Given the description of an element on the screen output the (x, y) to click on. 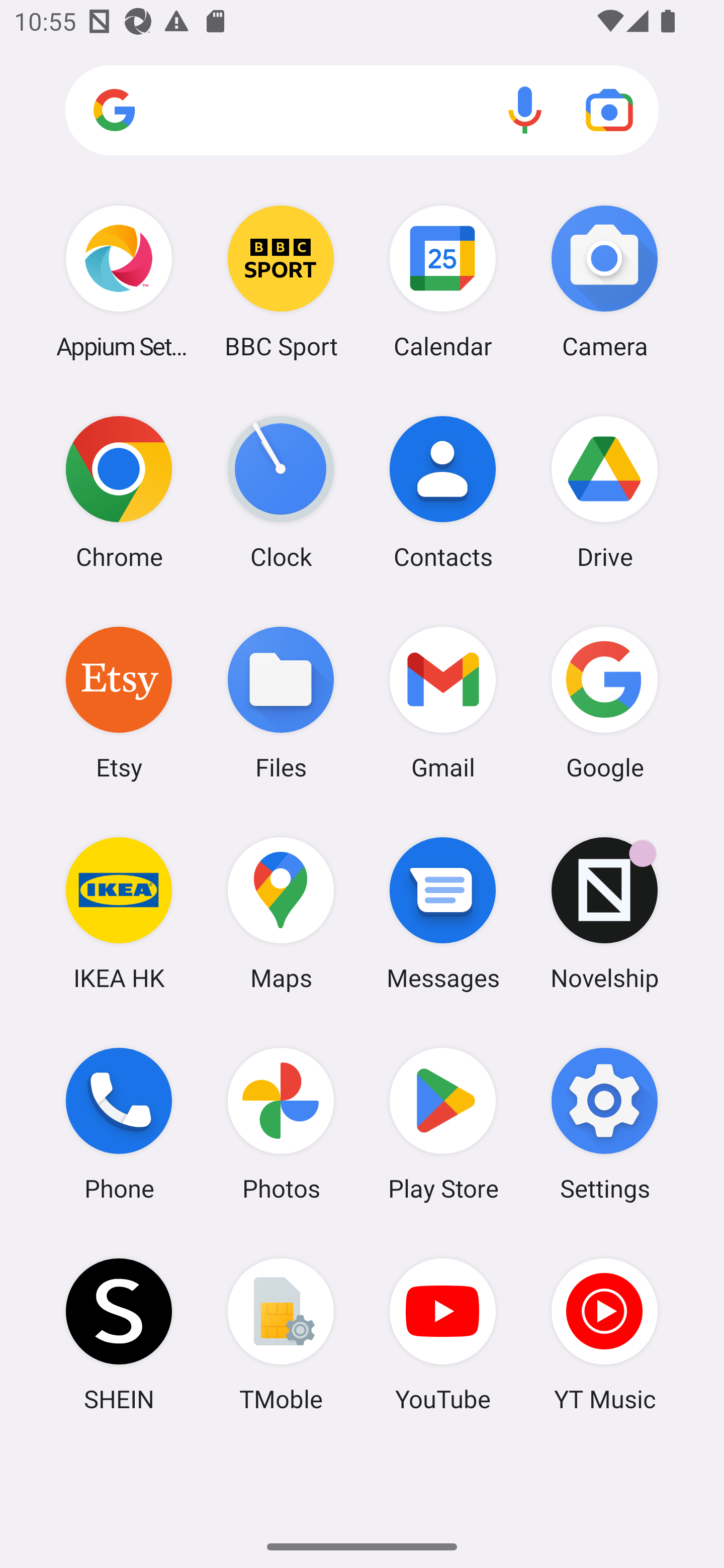
Search apps, web and more (361, 110)
Voice search (524, 109)
Google Lens (608, 109)
Appium Settings (118, 281)
BBC Sport (280, 281)
Calendar (443, 281)
Camera (604, 281)
Chrome (118, 492)
Clock (280, 492)
Contacts (443, 492)
Drive (604, 492)
Etsy (118, 702)
Files (280, 702)
Gmail (443, 702)
Google (604, 702)
IKEA HK (118, 913)
Maps (280, 913)
Messages (443, 913)
Novelship Novelship has 2 notifications (604, 913)
Phone (118, 1124)
Photos (280, 1124)
Play Store (443, 1124)
Settings (604, 1124)
SHEIN (118, 1334)
TMoble (280, 1334)
YouTube (443, 1334)
YT Music (604, 1334)
